Given the description of an element on the screen output the (x, y) to click on. 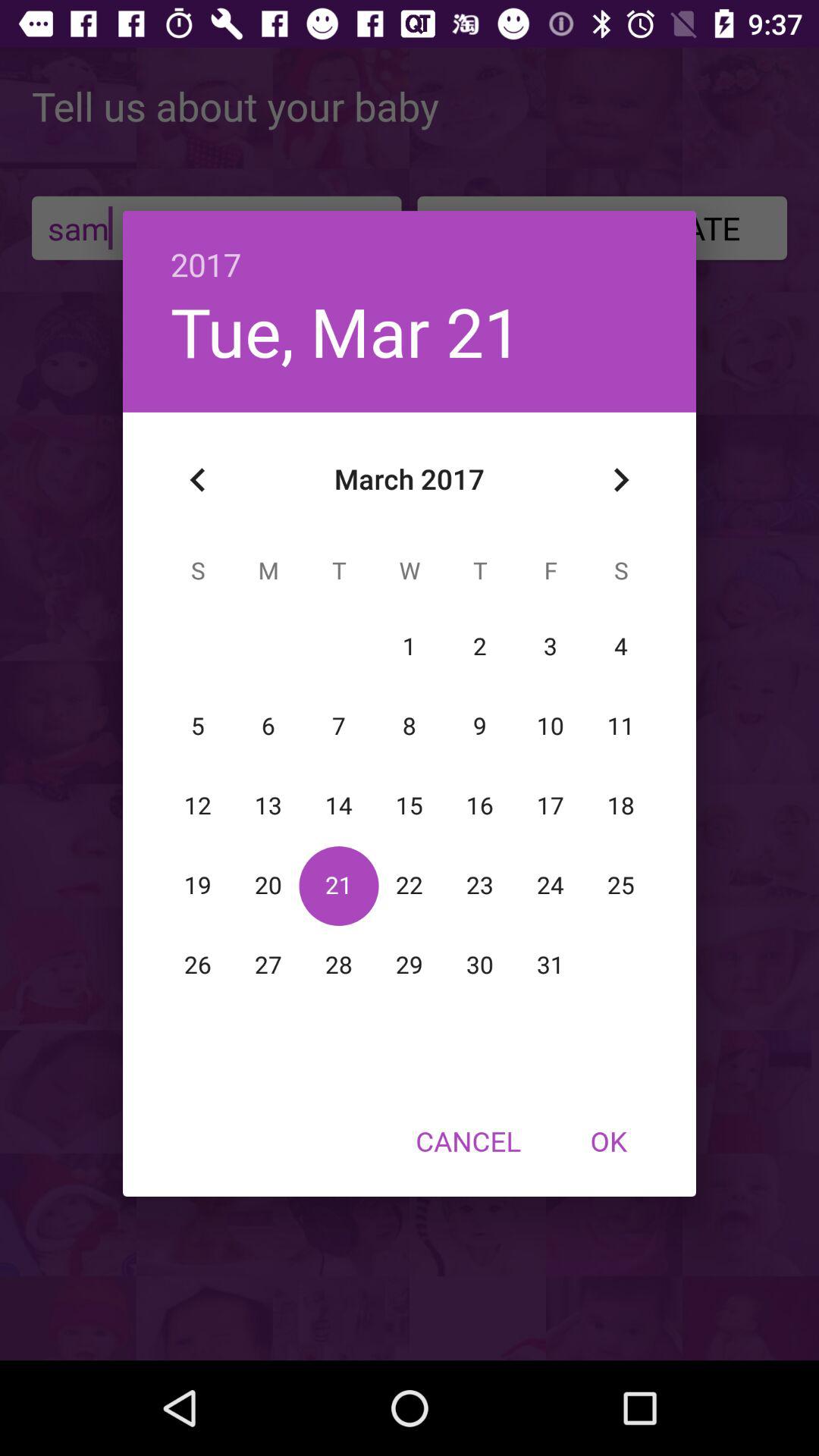
select the icon above tue, mar 21 (409, 248)
